Given the description of an element on the screen output the (x, y) to click on. 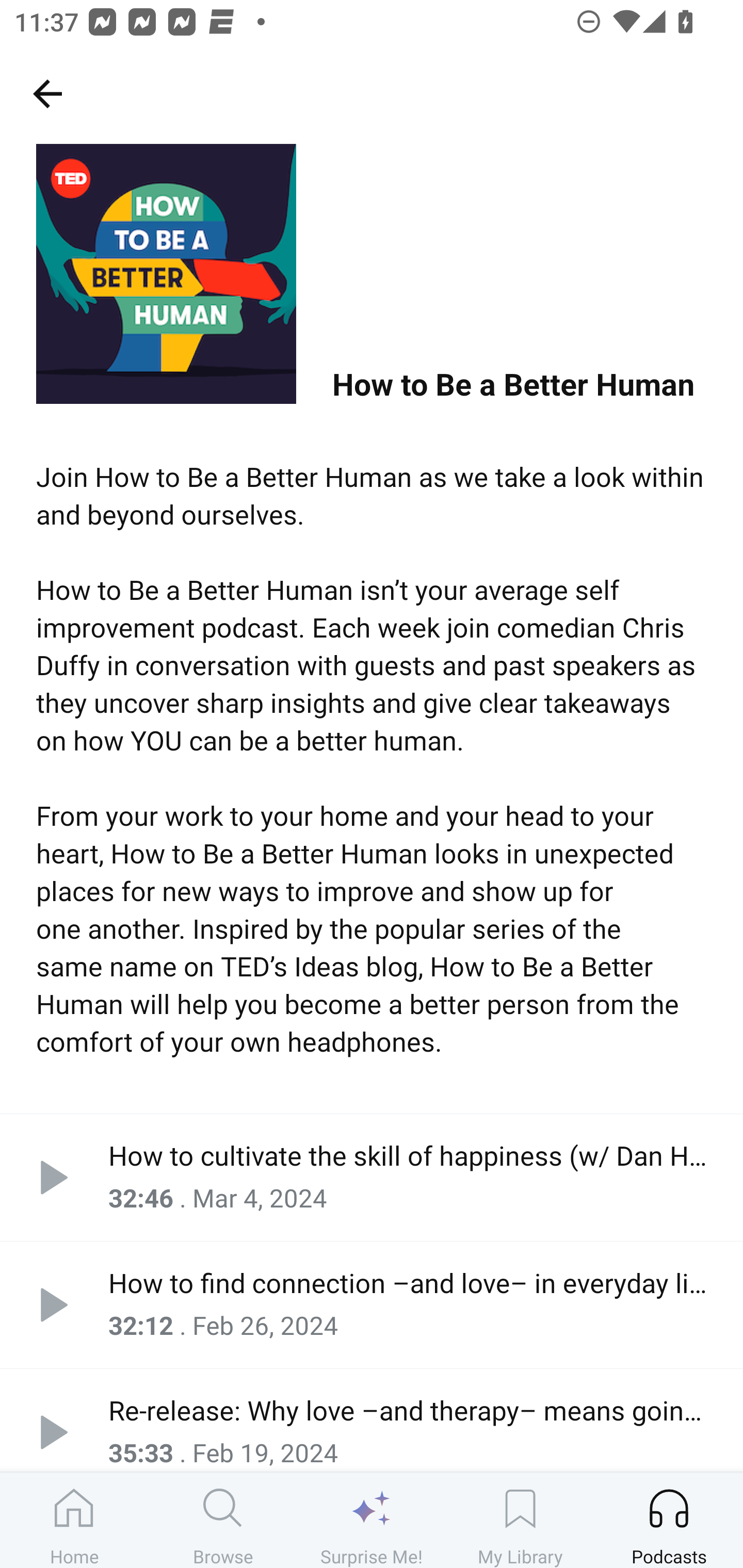
TED Podcasts, back (47, 92)
Home (74, 1520)
Browse (222, 1520)
Surprise Me! (371, 1520)
My Library (519, 1520)
Podcasts (668, 1520)
